Given the description of an element on the screen output the (x, y) to click on. 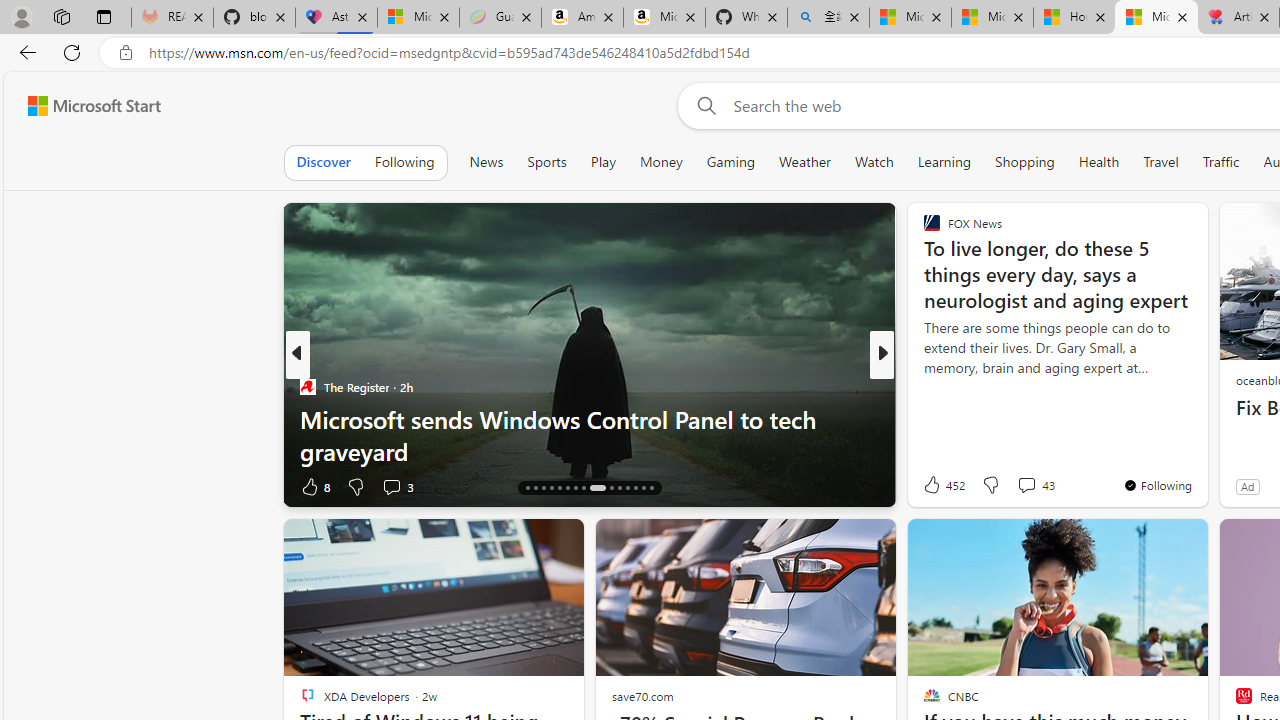
Asthma Inhalers: Names and Types (336, 17)
AutomationID: tab-22 (574, 487)
The Register (307, 386)
How I Got Rid of Microsoft Edge's Unnecessary Features (1074, 17)
AutomationID: tab-28 (635, 487)
AutomationID: tab-20 (559, 487)
